Given the description of an element on the screen output the (x, y) to click on. 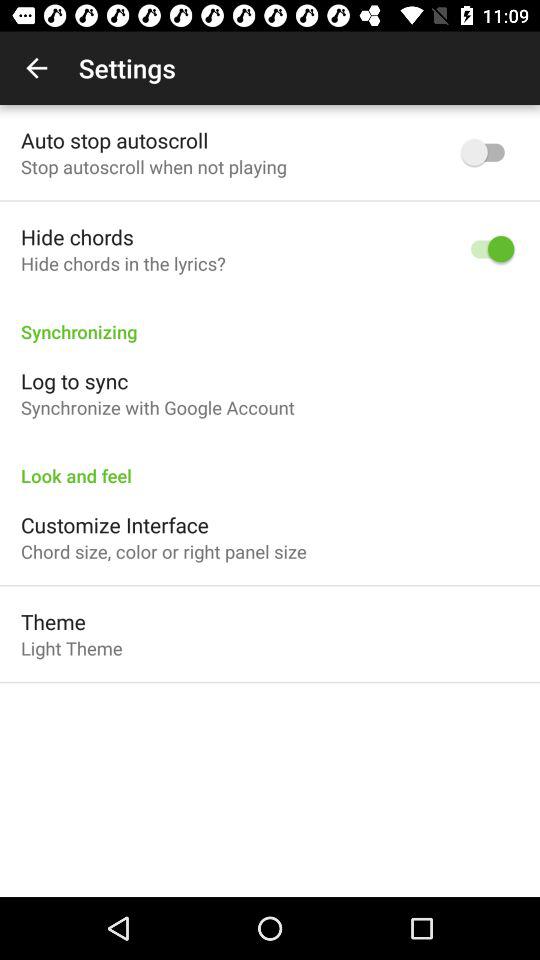
choose the item above theme (163, 551)
